Given the description of an element on the screen output the (x, y) to click on. 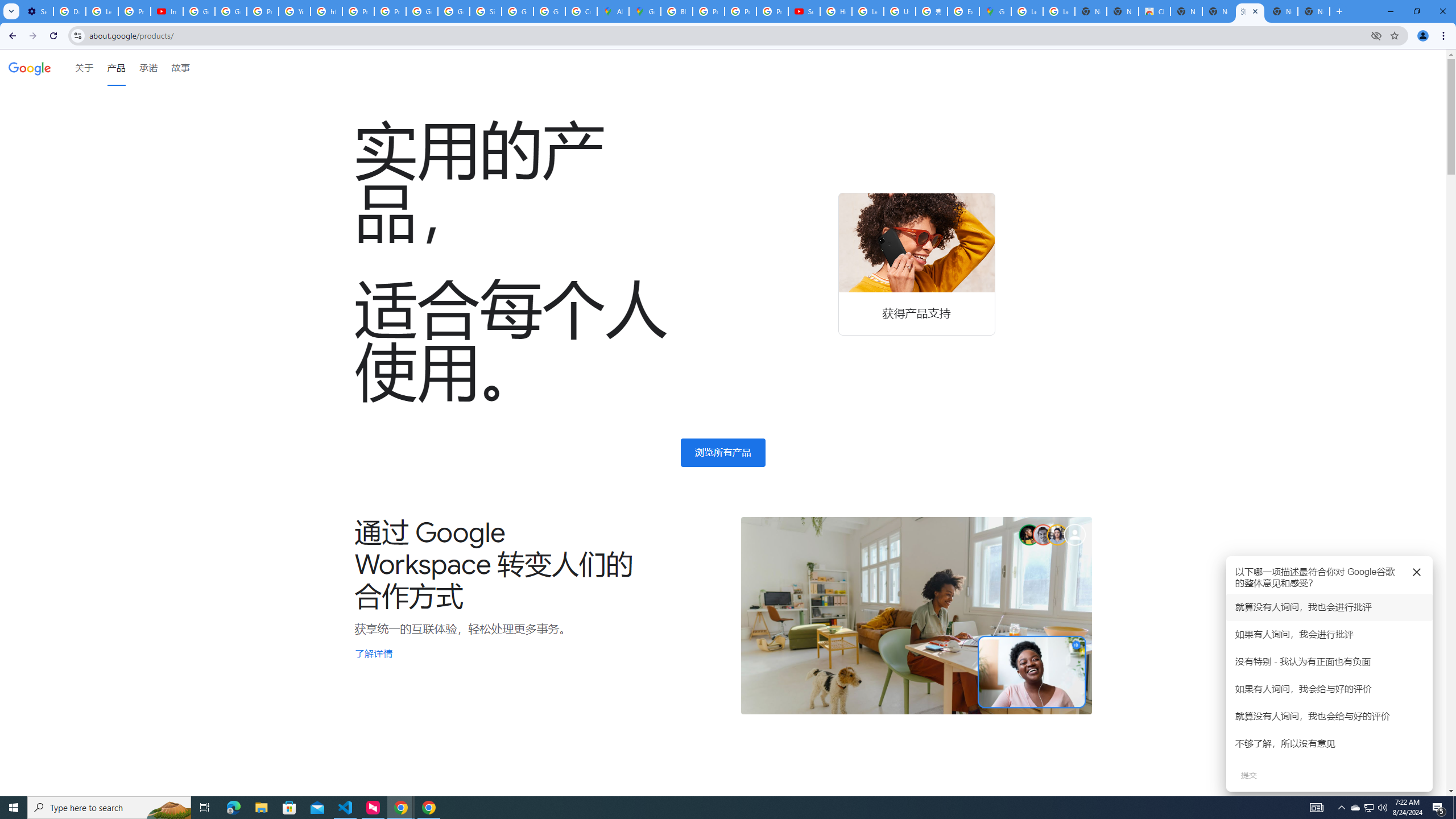
Google Account Help (198, 11)
Privacy Help Center - Policies Help (358, 11)
Blogger Policies and Guidelines - Transparency Center (676, 11)
